Given the description of an element on the screen output the (x, y) to click on. 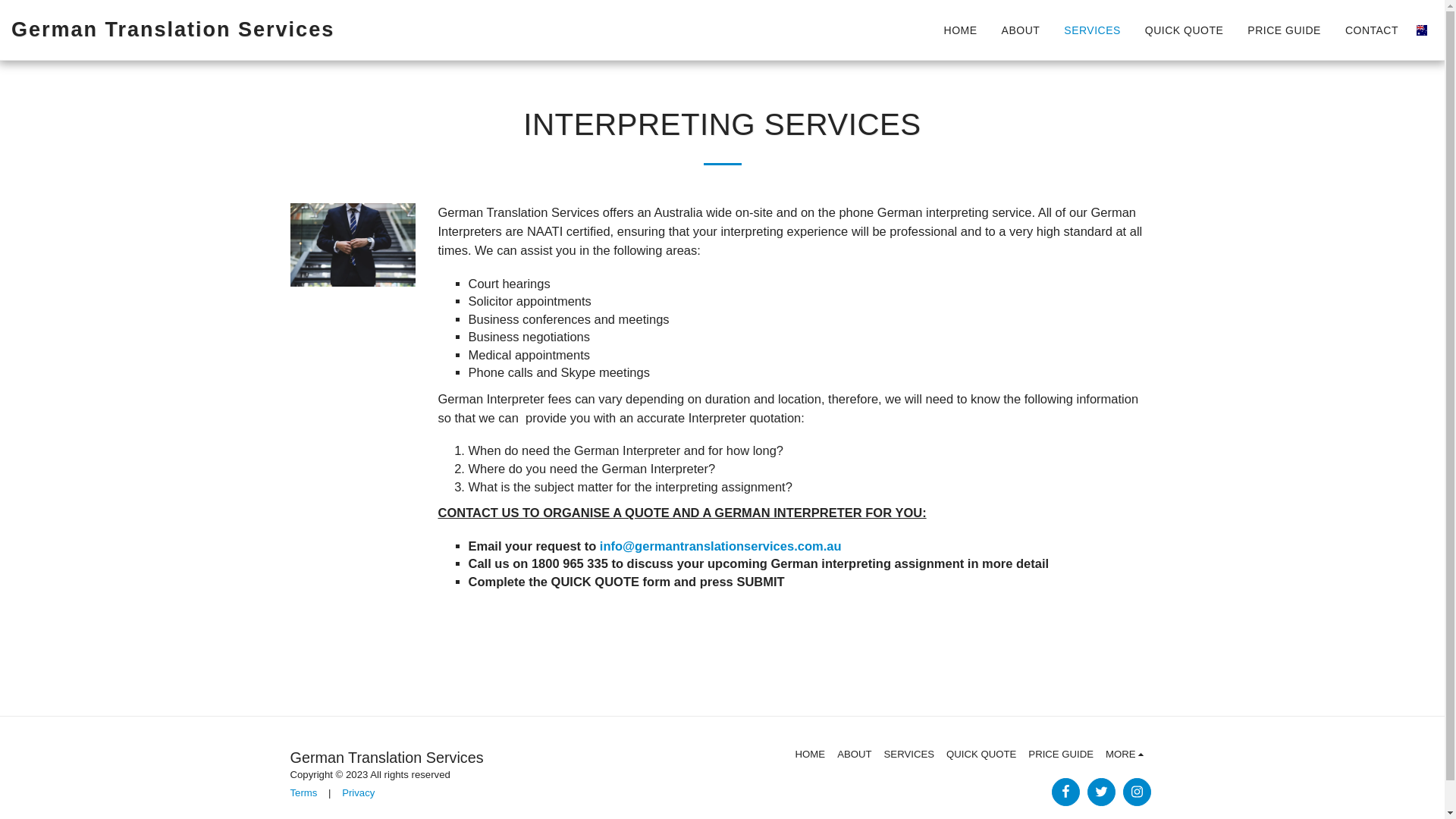
  Element type: text (1136, 792)
MORE   Element type: text (1126, 754)
SERVICES Element type: text (1092, 29)
German Translation Services Element type: text (172, 30)
Privacy Element type: text (358, 792)
info@germantranslationservices.com.au Element type: text (720, 545)
Terms Element type: text (302, 792)
ABOUT Element type: text (854, 754)
  Element type: text (1101, 792)
HOME Element type: text (960, 29)
SERVICES Element type: text (909, 754)
PRICE GUIDE Element type: text (1060, 754)
HOME Element type: text (810, 754)
PRICE GUIDE Element type: text (1284, 29)
CONTACT Element type: text (1371, 29)
QUICK QUOTE Element type: text (1184, 29)
  Element type: text (1065, 792)
QUICK QUOTE Element type: text (981, 754)
ABOUT Element type: text (1020, 29)
